Given the description of an element on the screen output the (x, y) to click on. 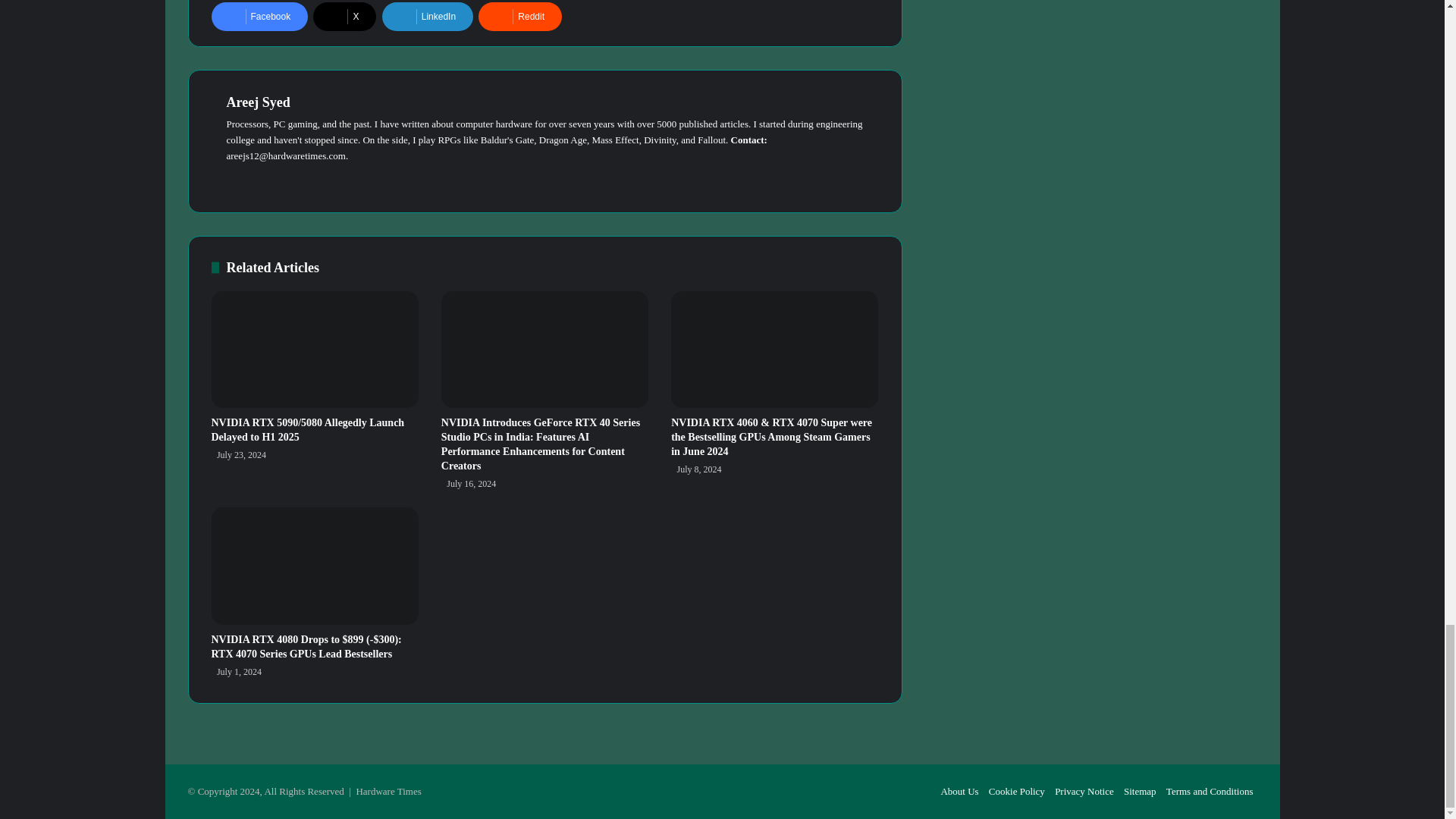
Facebook (259, 16)
